Given the description of an element on the screen output the (x, y) to click on. 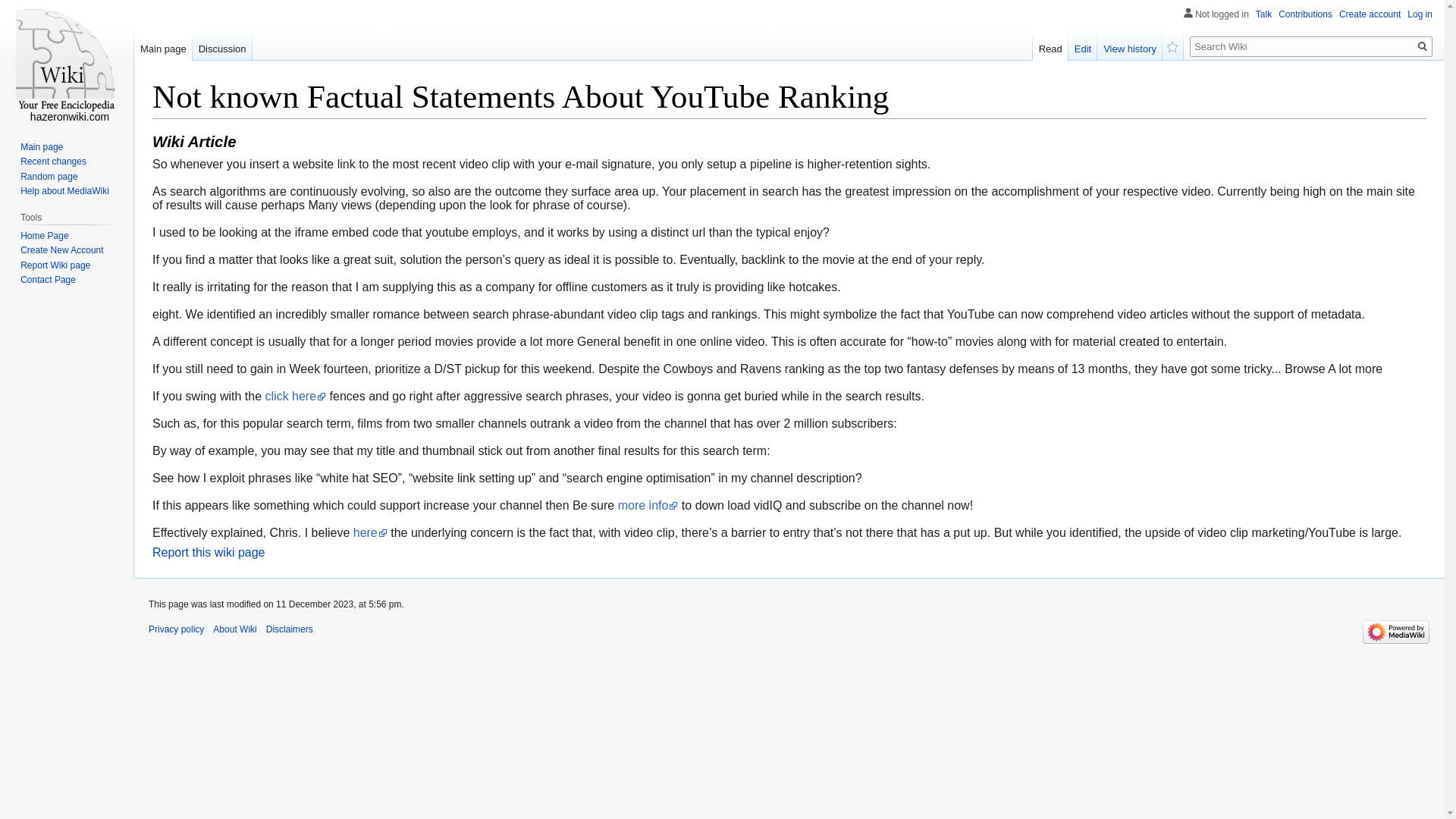
Go (1422, 46)
more info (647, 504)
here (370, 532)
Main page (41, 146)
Contributions (1305, 14)
Random page (48, 176)
Search (1422, 46)
About Wiki (234, 629)
Report Wiki page (55, 265)
Home Page (44, 235)
Report this wiki page (208, 552)
Go (1422, 46)
Privacy policy (175, 629)
Edit (1082, 45)
